Given the description of an element on the screen output the (x, y) to click on. 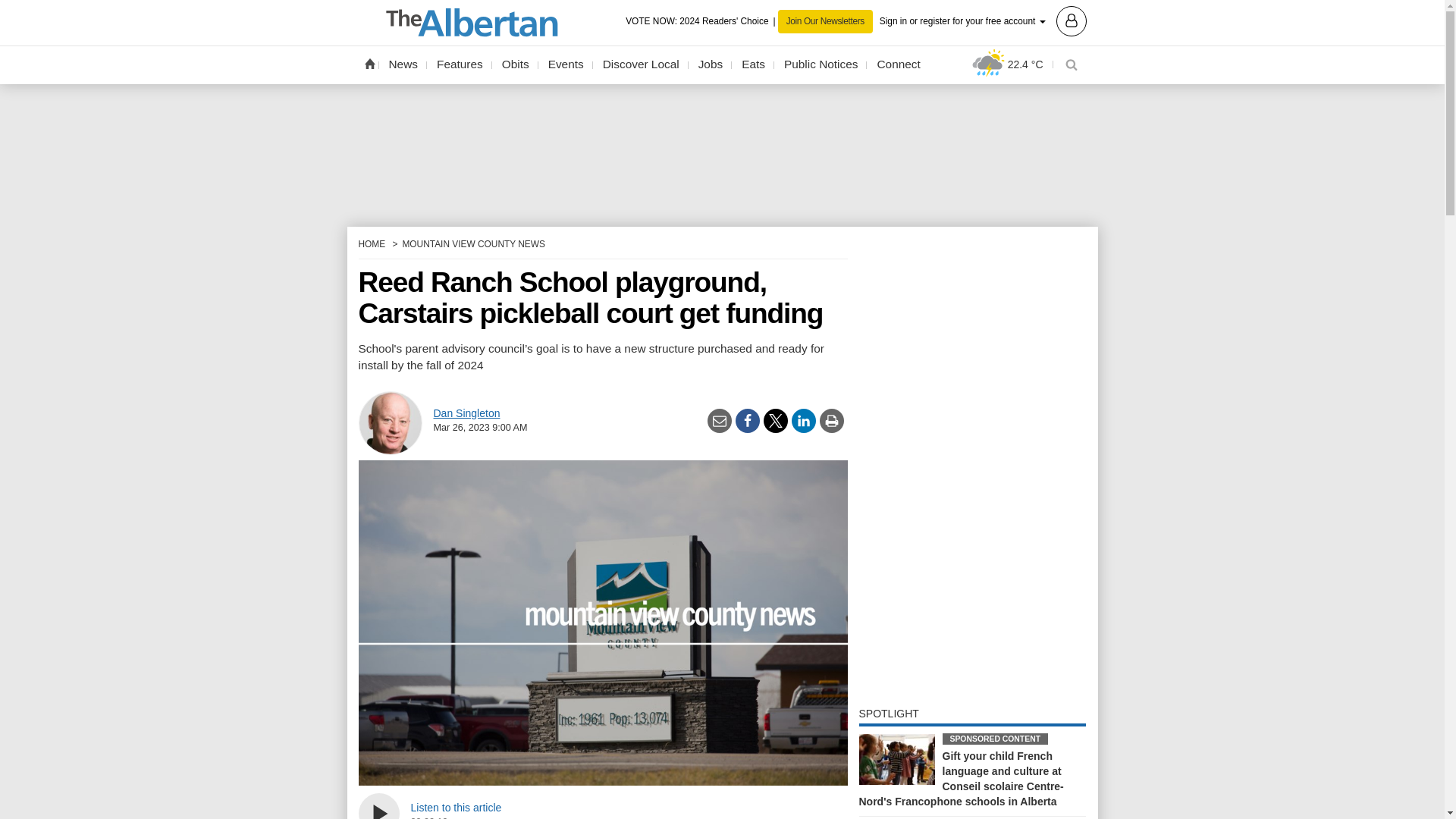
Sign in or register for your free account (982, 20)
Home (368, 63)
3rd party ad content (722, 10)
Join Our Newsletters (824, 21)
3rd party ad content (722, 154)
VOTE NOW: 2024 Readers' Choice (701, 21)
